Given the description of an element on the screen output the (x, y) to click on. 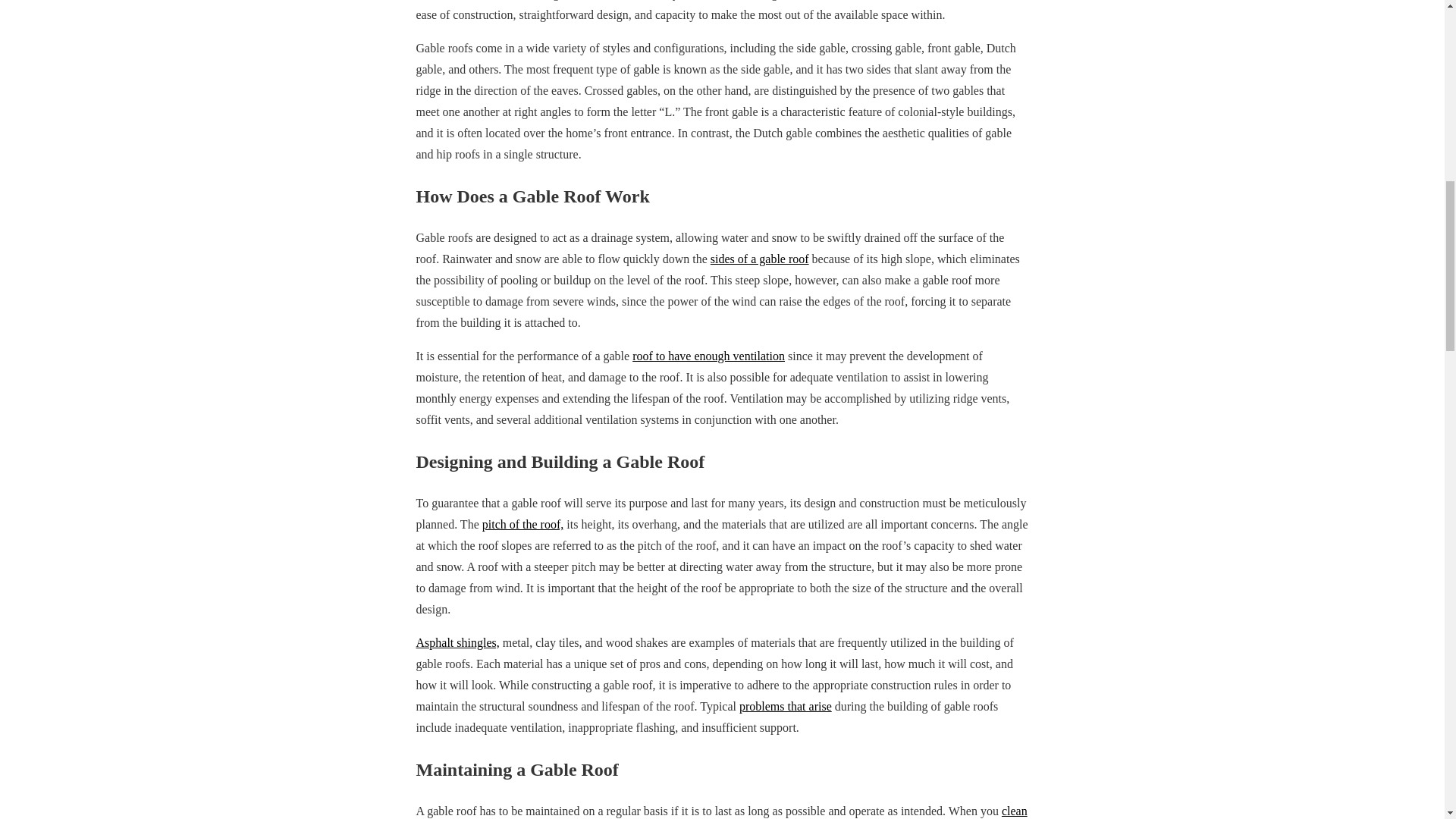
sides of a gable roof (759, 258)
problems that arise (785, 706)
Asphalt shingles, (456, 642)
clean the surface of the roof, (720, 811)
pitch of the roof, (522, 523)
roof to have enough ventilation (707, 355)
